Given the description of an element on the screen output the (x, y) to click on. 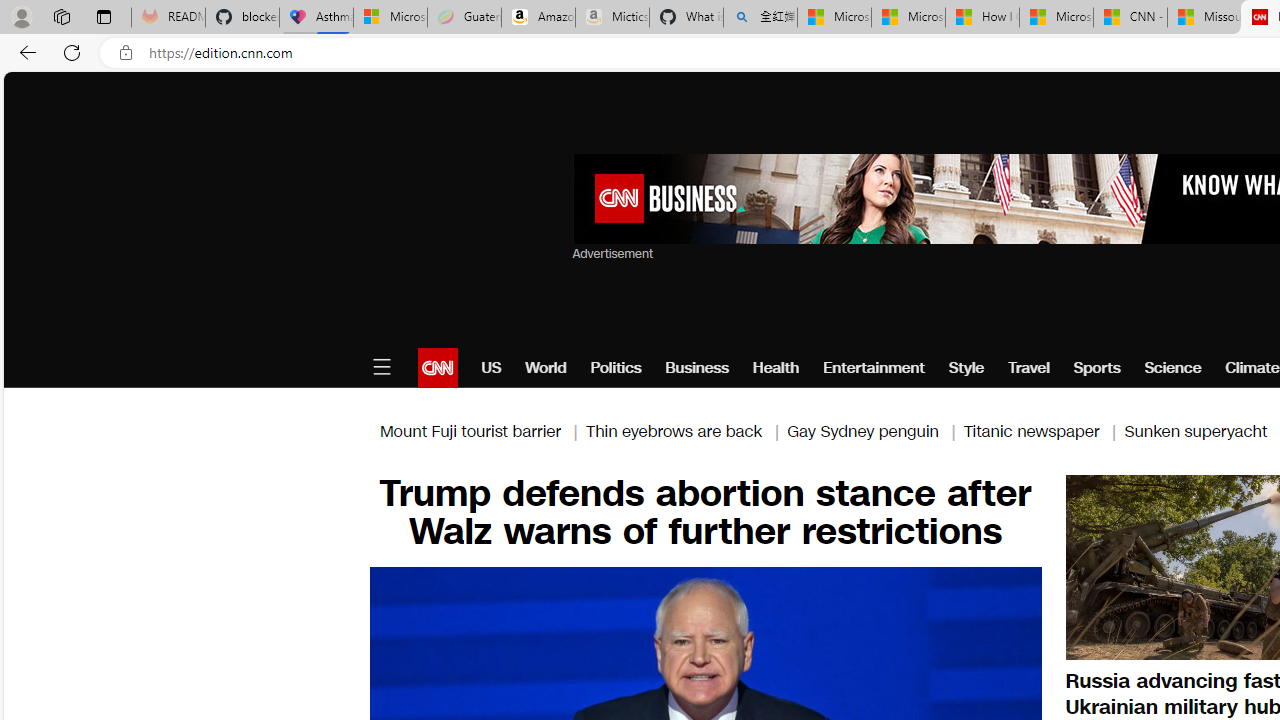
Thin eyebrows are back | (686, 430)
World (545, 367)
